Given the description of an element on the screen output the (x, y) to click on. 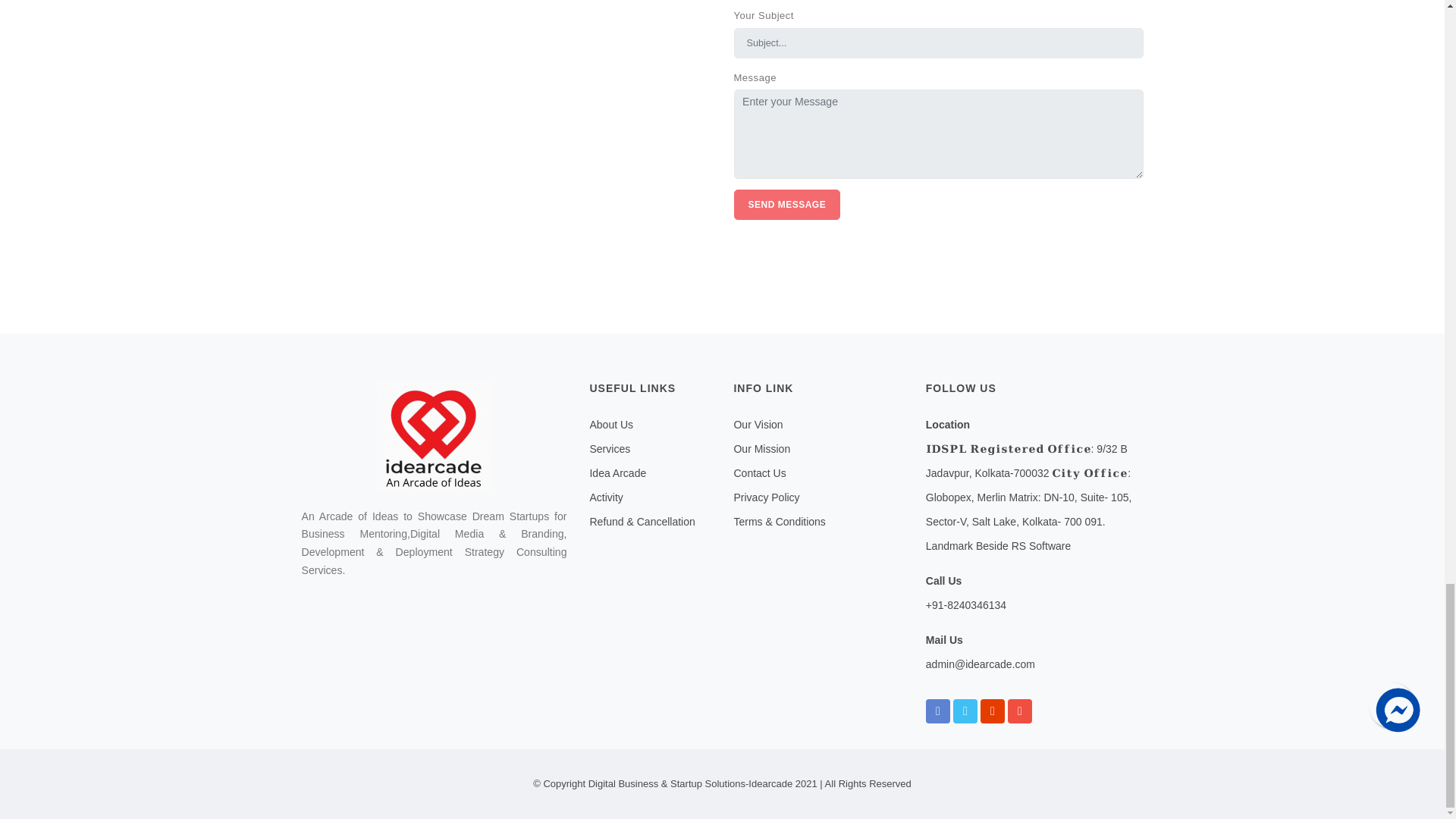
About Us (611, 424)
Send Message (787, 204)
Services (609, 449)
Idea Arcade (617, 472)
Send Message (787, 204)
